Given the description of an element on the screen output the (x, y) to click on. 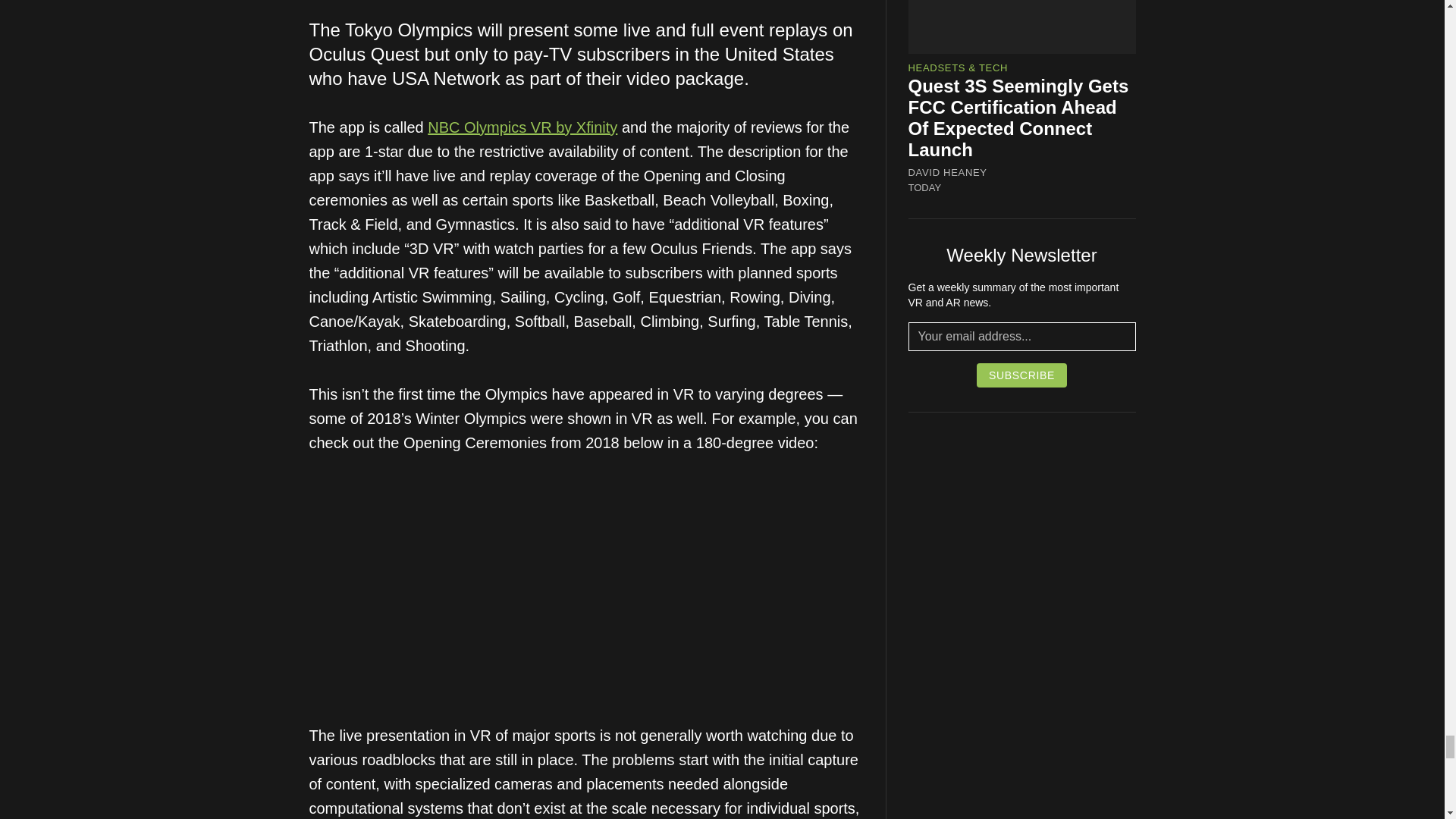
NBC Olympics VR by Xfinity (522, 126)
Subscribe (1021, 375)
DAVID HEANEY (947, 173)
Subscribe (1021, 375)
